Given the description of an element on the screen output the (x, y) to click on. 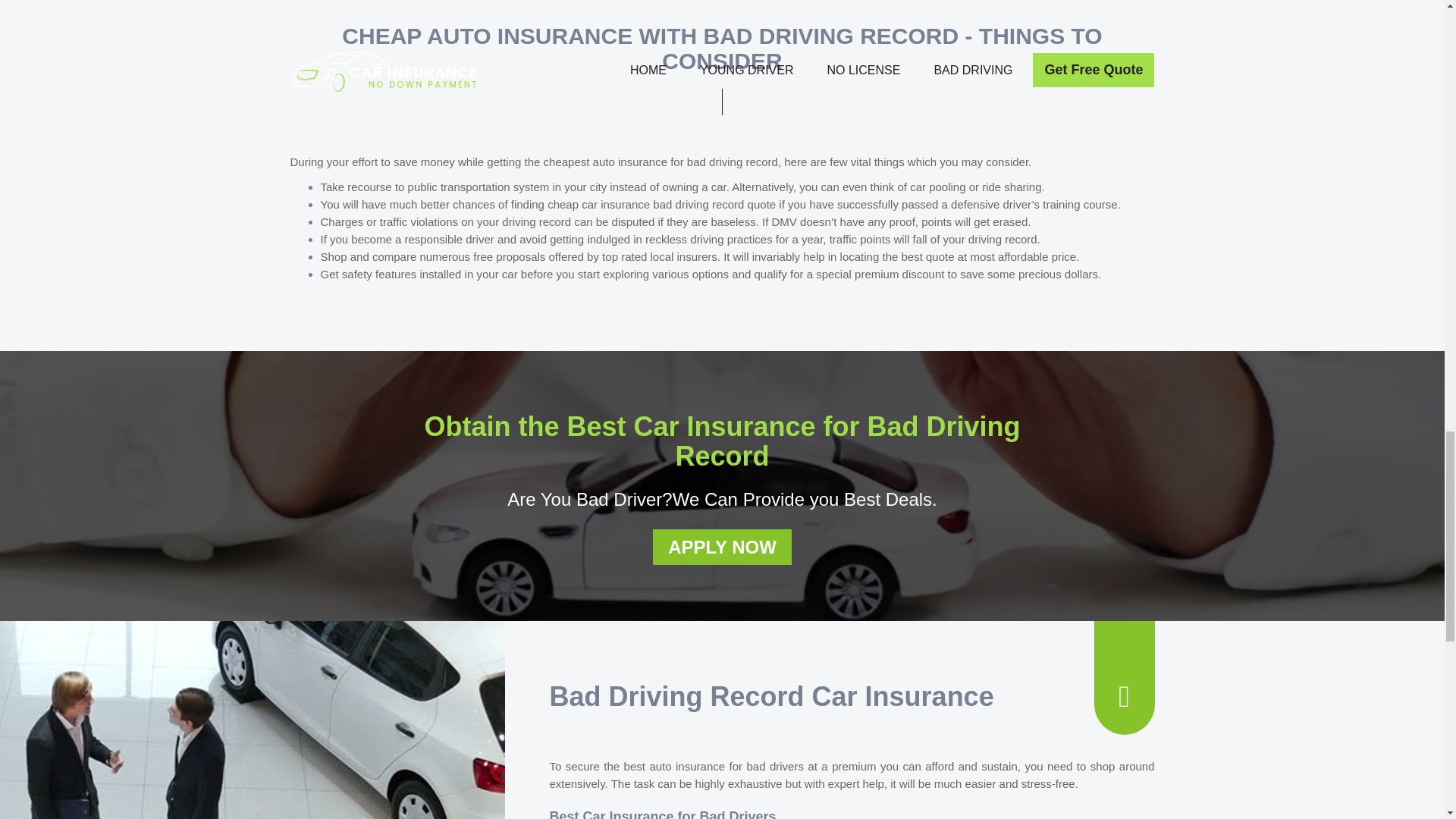
APPLY NOW (722, 547)
